Given the description of an element on the screen output the (x, y) to click on. 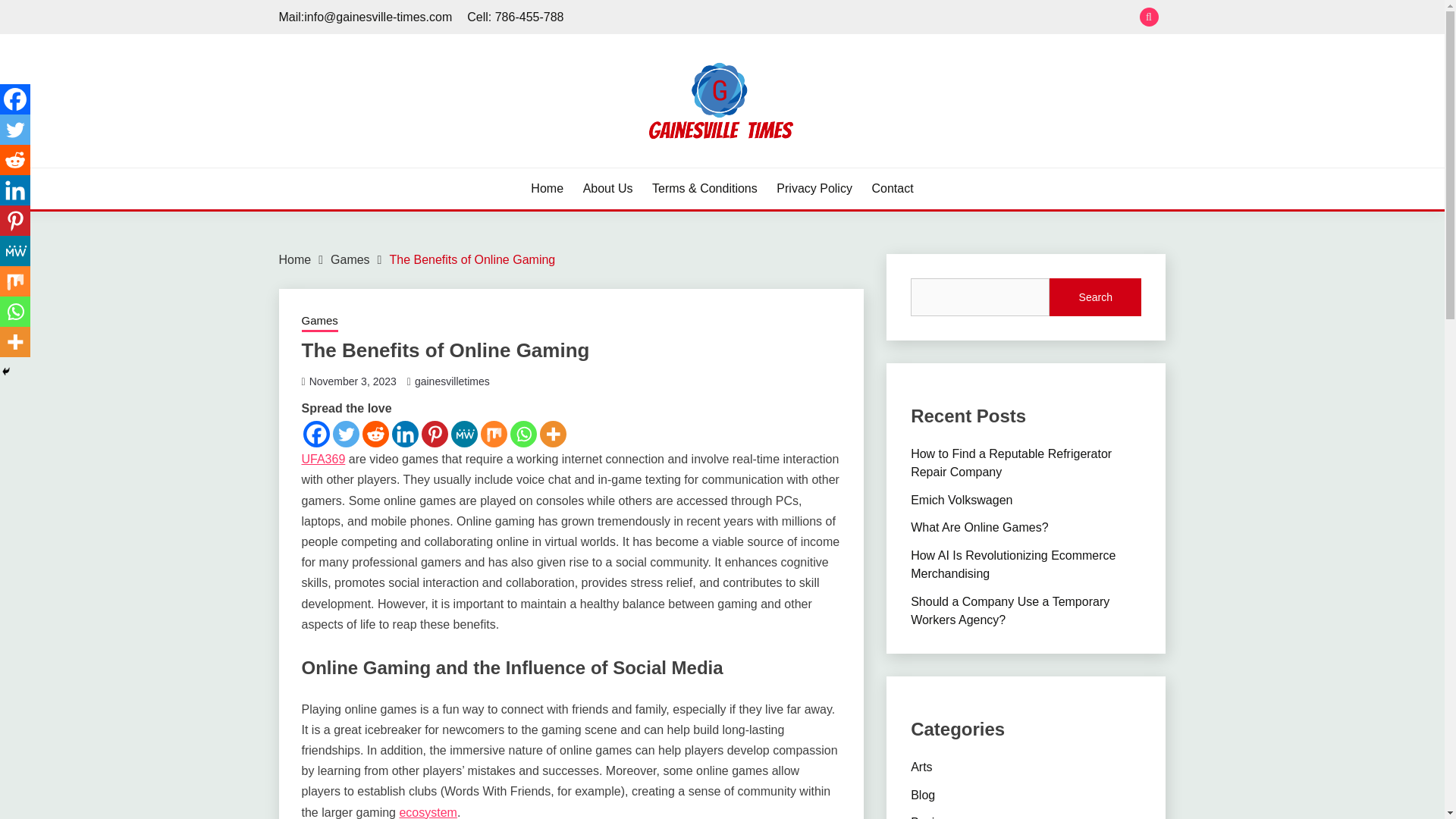
Reddit (375, 433)
Pinterest (435, 433)
November 3, 2023 (352, 381)
Twitter (15, 129)
More (553, 433)
Home (295, 259)
Linkedin (404, 433)
Reddit (15, 159)
Linkedin (15, 190)
Contact (893, 188)
gainesvilletimes (451, 381)
Mix (493, 433)
Facebook (15, 99)
Home (547, 188)
Cell: 786-455-788 (515, 16)
